Given the description of an element on the screen output the (x, y) to click on. 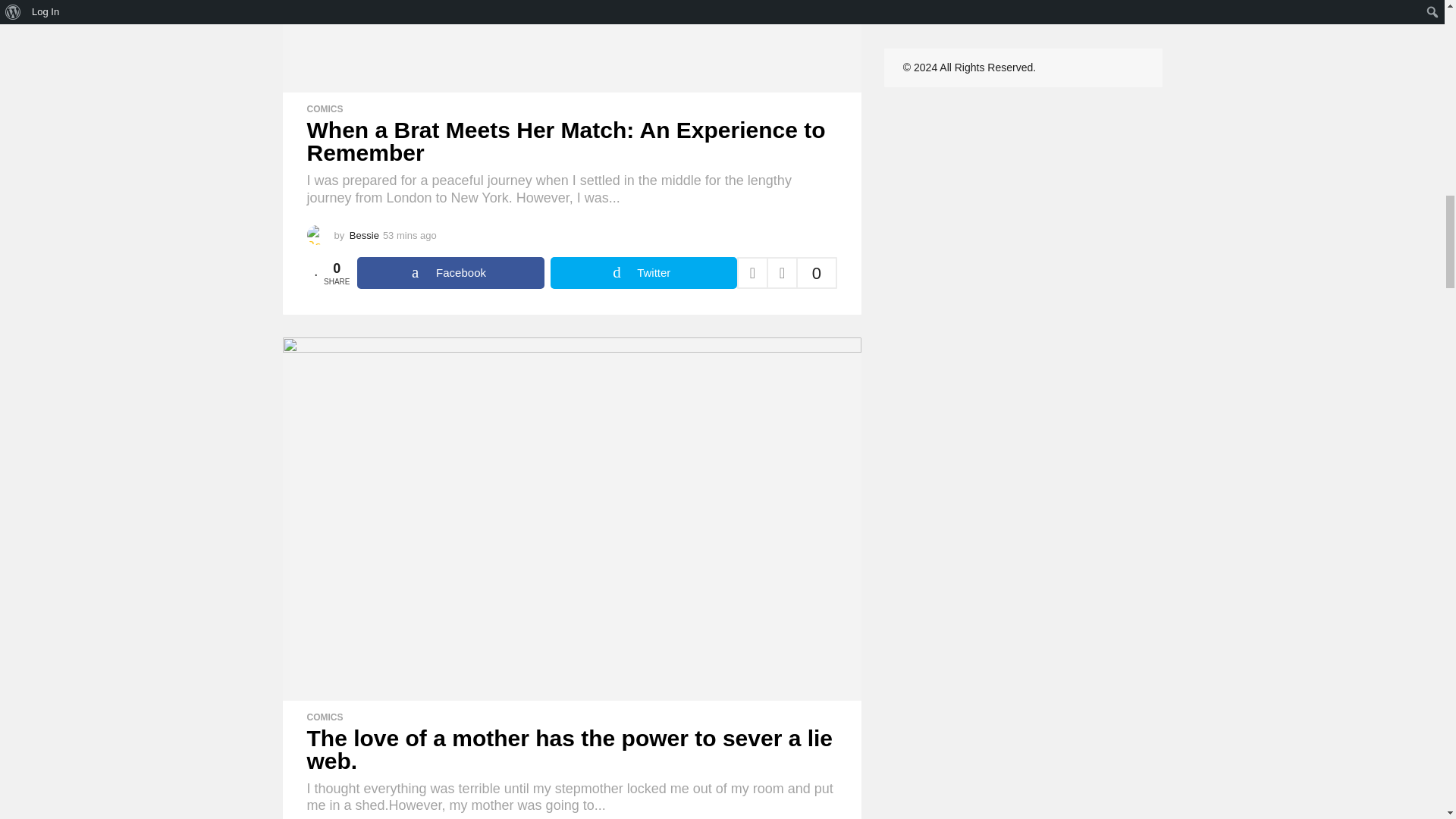
When a Brat Meets Her Match: An Experience to Remember (571, 46)
Share on Facebook (449, 273)
Share on Twitter (643, 273)
